Given the description of an element on the screen output the (x, y) to click on. 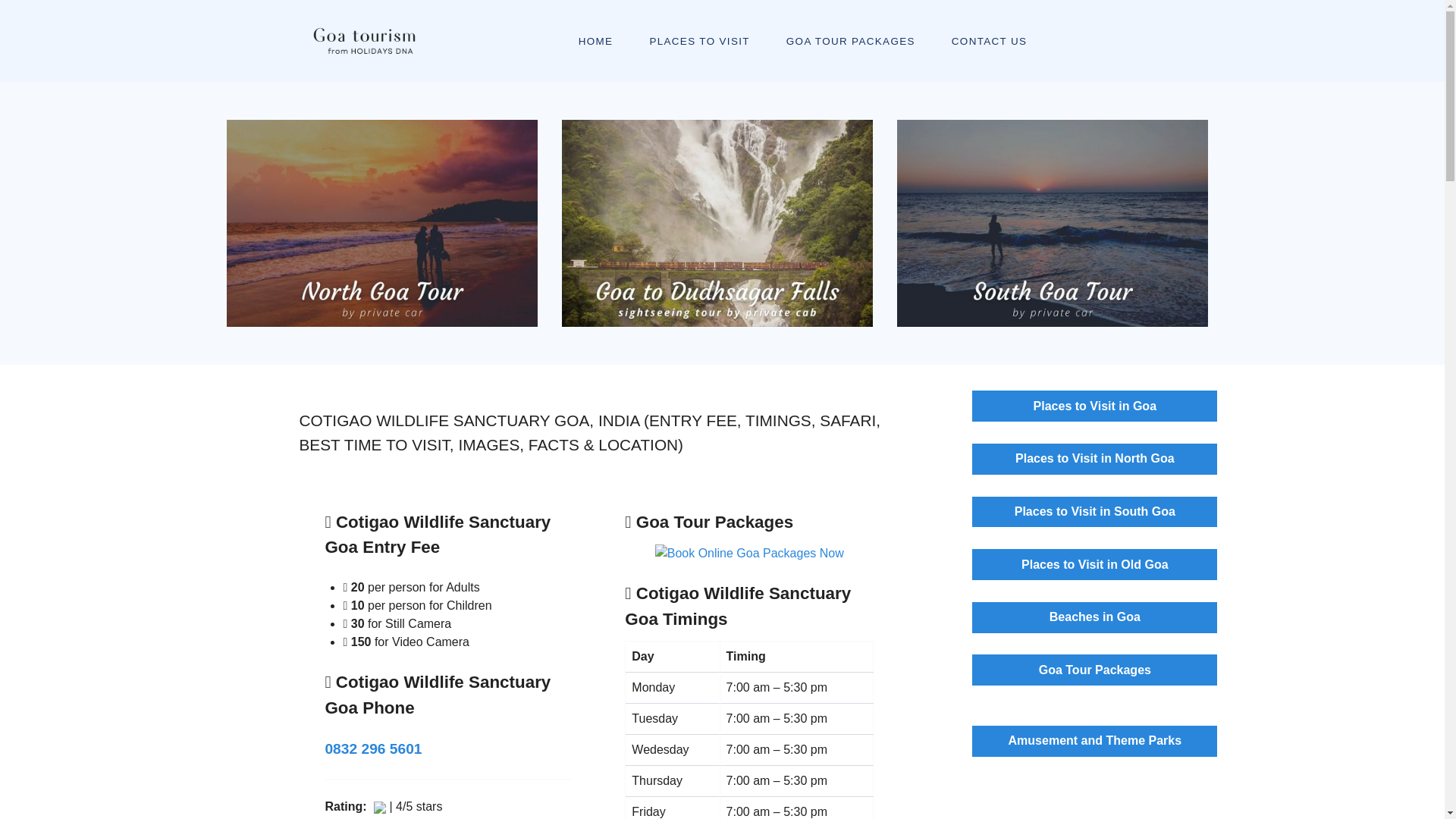
CONTACT US (989, 40)
Goa Tourism (362, 40)
Beaches in Goa (1094, 617)
Amusement and Theme Parks (1094, 740)
PLACES TO VISIT (698, 40)
0832 296 5601 (373, 748)
Places to Visit in Goa (1094, 405)
13 reviews (434, 818)
Places to Visit in Old Goa (1094, 563)
Cotigao Wildlife Sanctuary Goa Phone, Contact Number (373, 748)
